Given the description of an element on the screen output the (x, y) to click on. 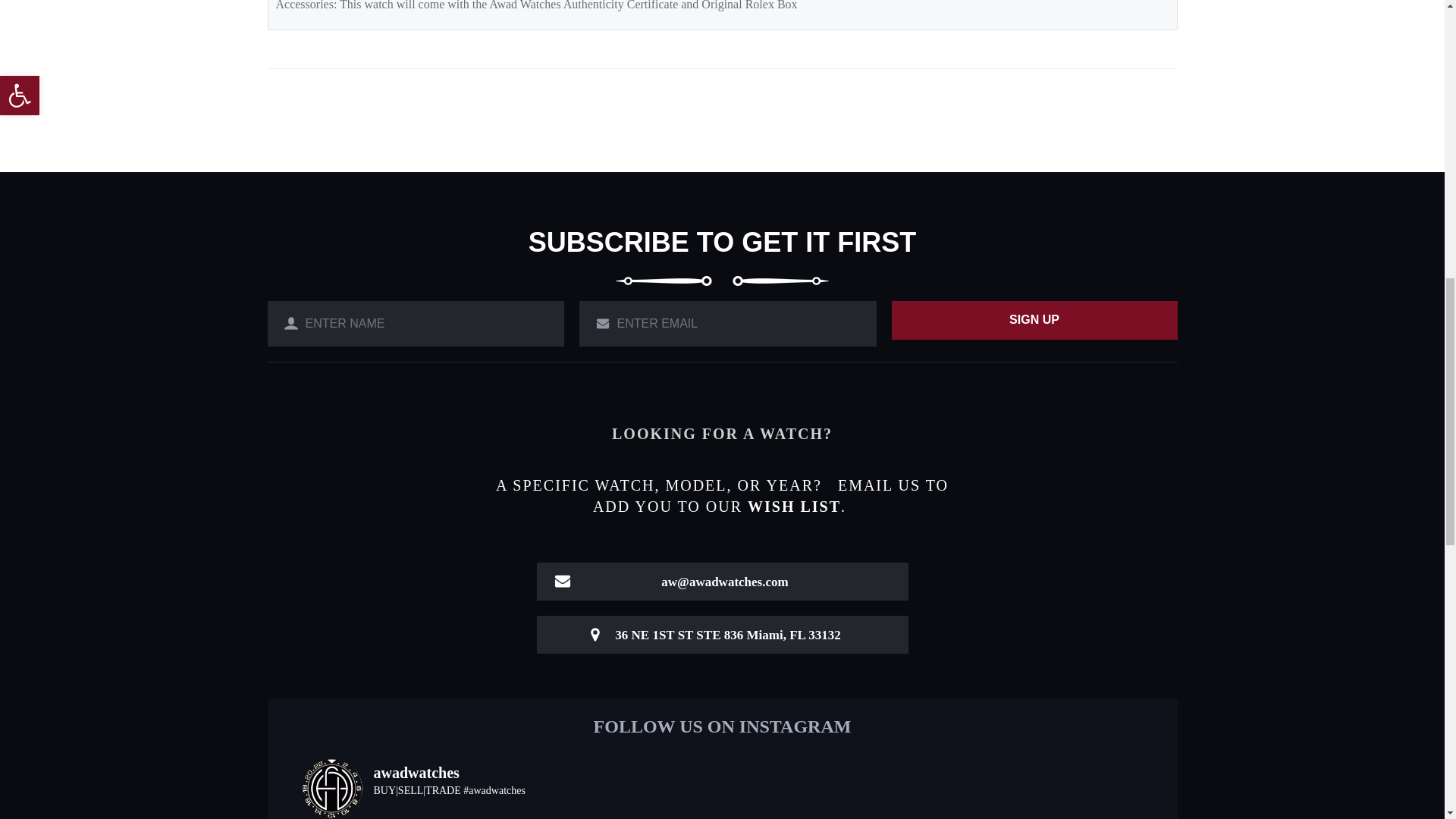
Sign up (1034, 320)
